Given the description of an element on the screen output the (x, y) to click on. 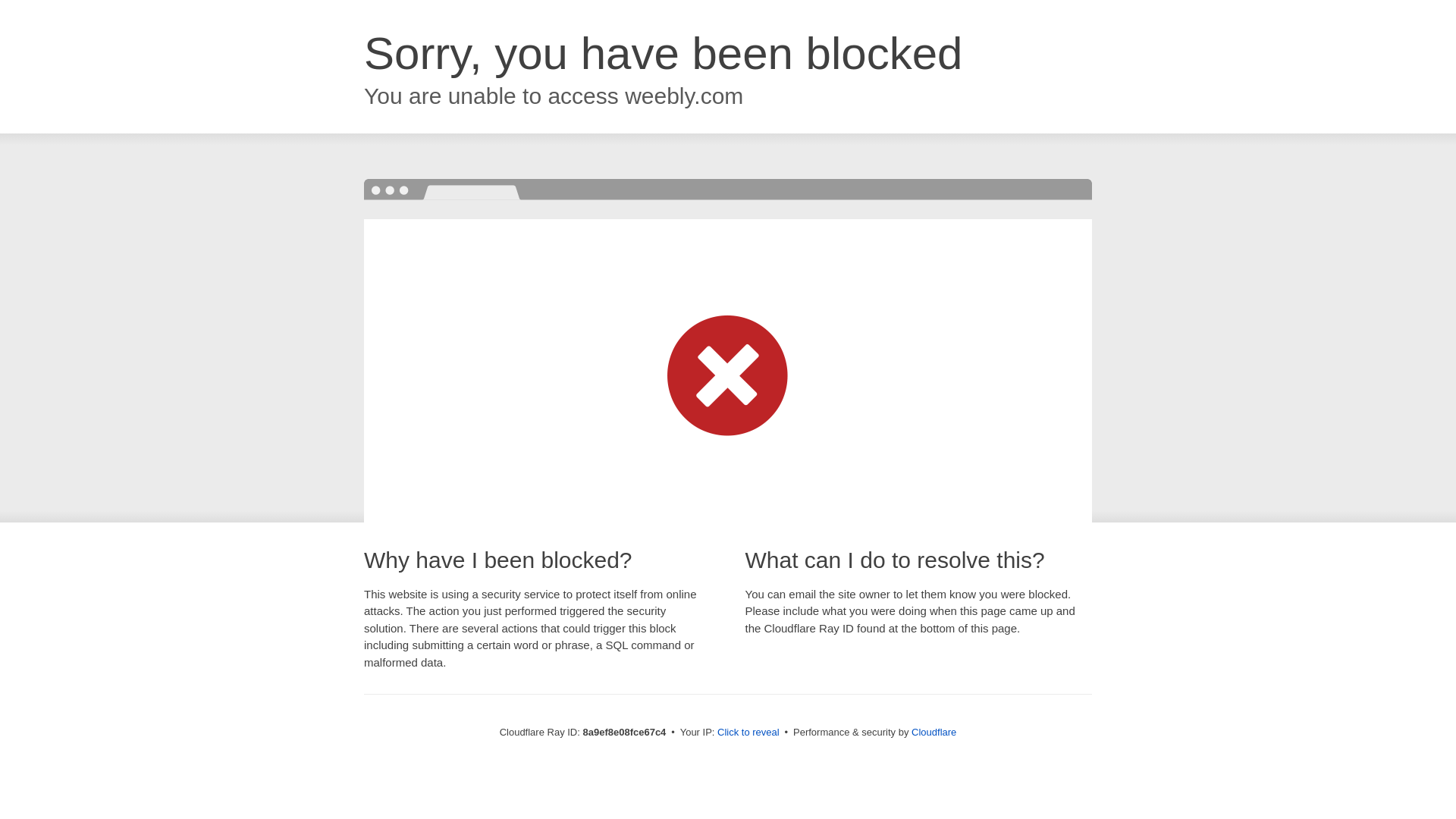
Click to reveal (747, 732)
Cloudflare (933, 731)
